Given the description of an element on the screen output the (x, y) to click on. 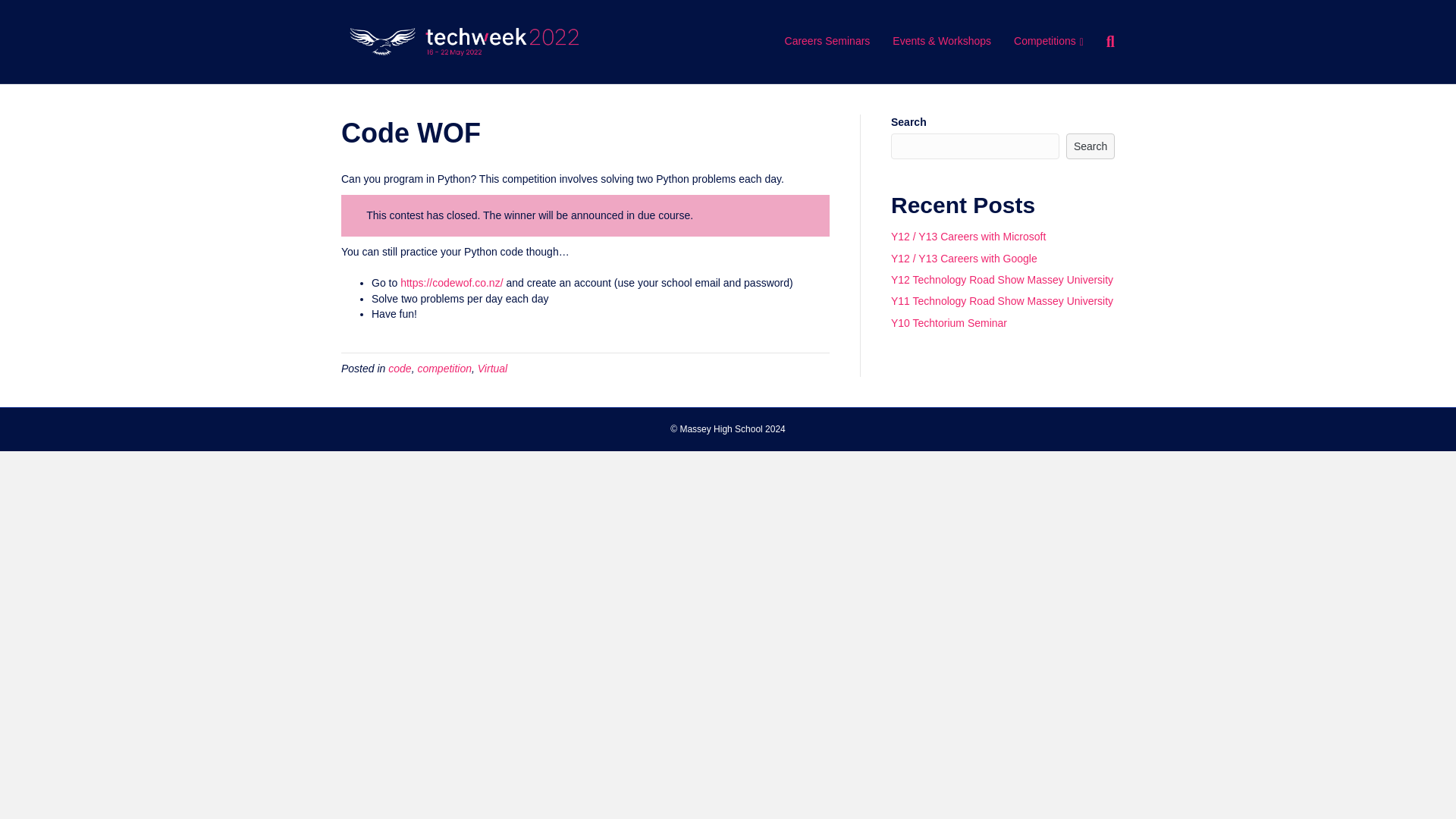
Virtual (491, 368)
Competitions (1048, 41)
Y10 Techtorium Seminar (949, 322)
Y11 Technology Road Show Massey University (1002, 300)
Careers Seminars (827, 41)
code (399, 368)
Search (1090, 145)
Y12 Technology Road Show Massey University (1002, 279)
competition (443, 368)
